Given the description of an element on the screen output the (x, y) to click on. 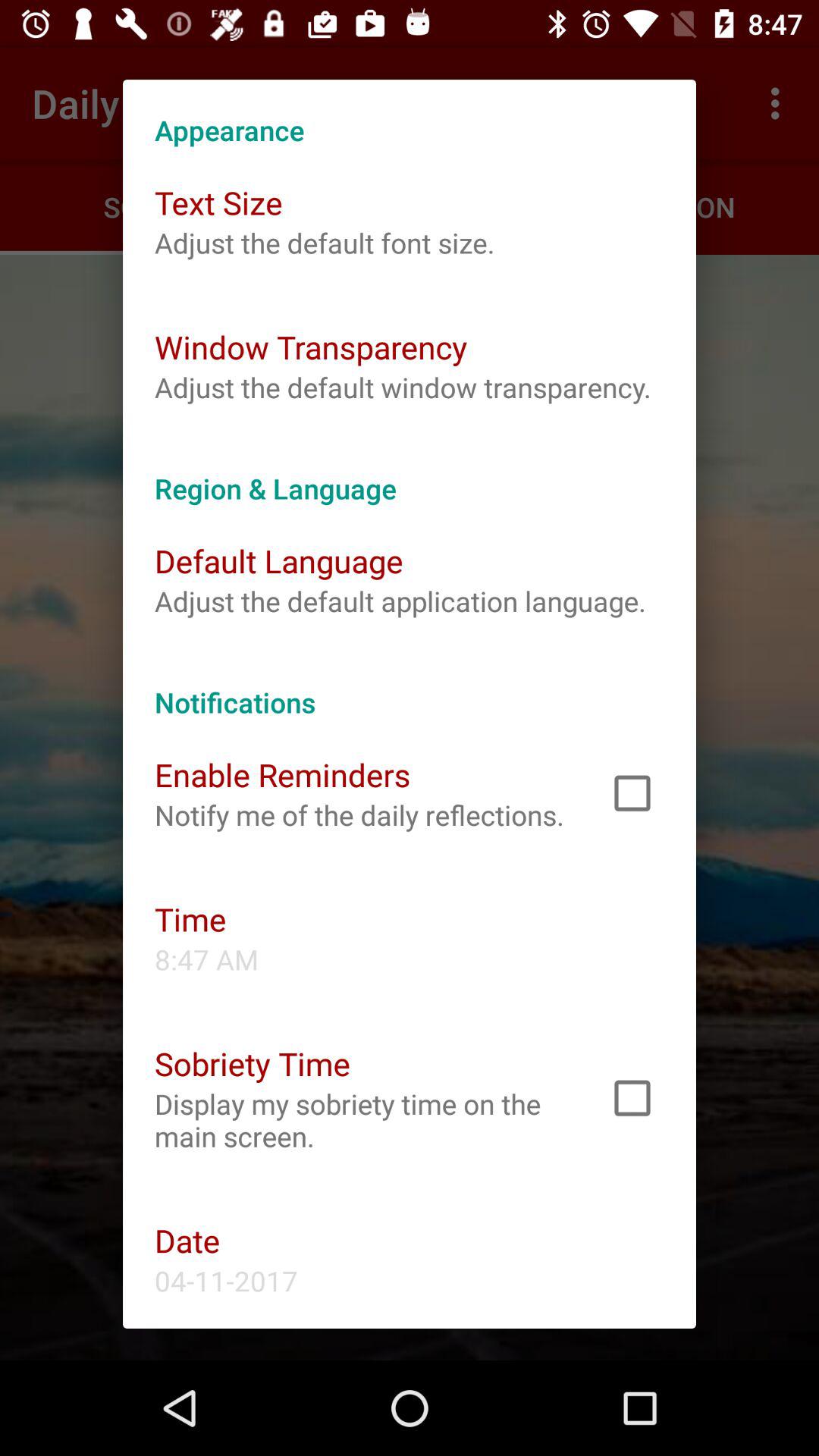
scroll to 8:47 am icon (206, 959)
